Given the description of an element on the screen output the (x, y) to click on. 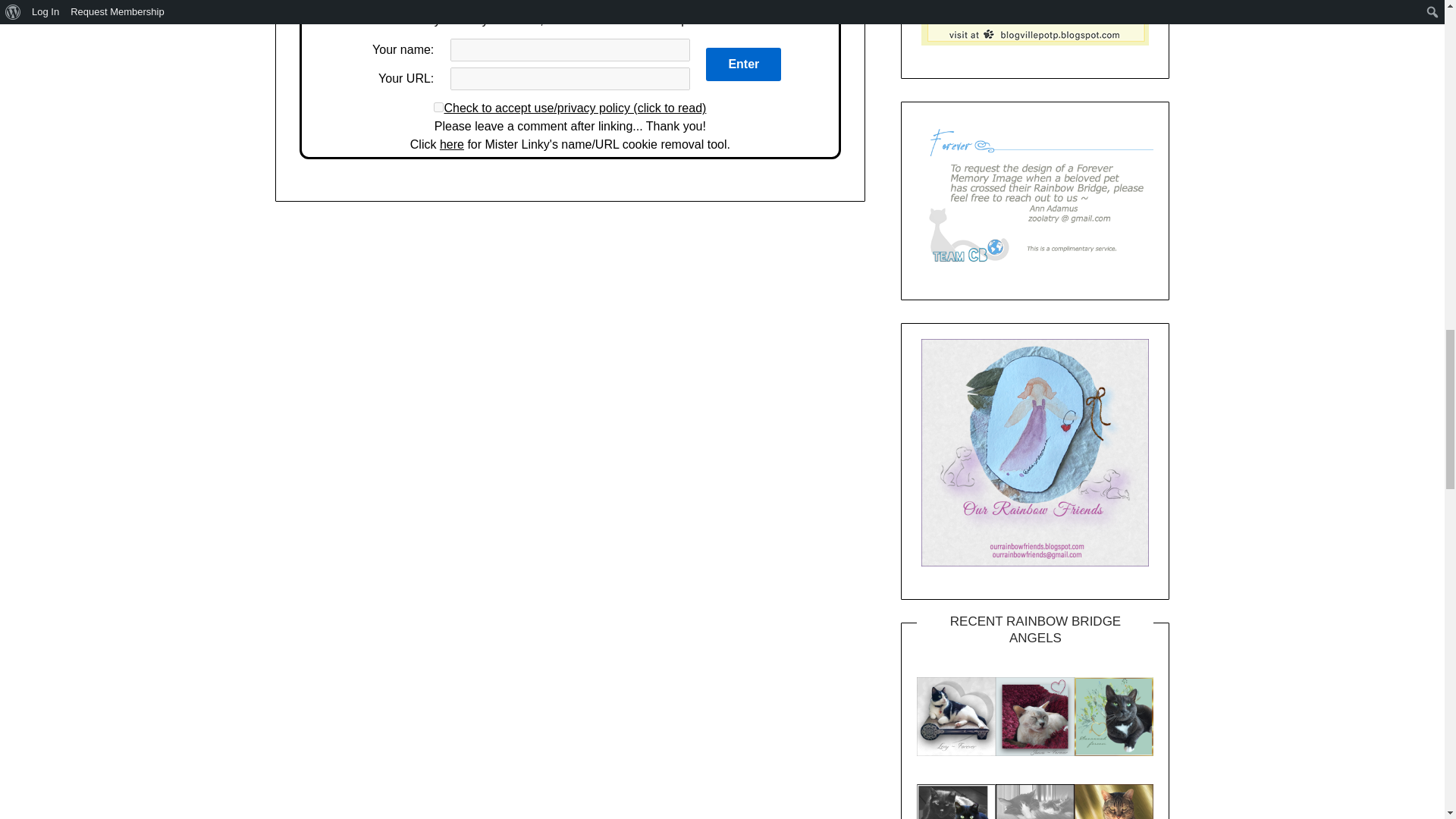
on (438, 107)
  Enter   (743, 64)
